Given the description of an element on the screen output the (x, y) to click on. 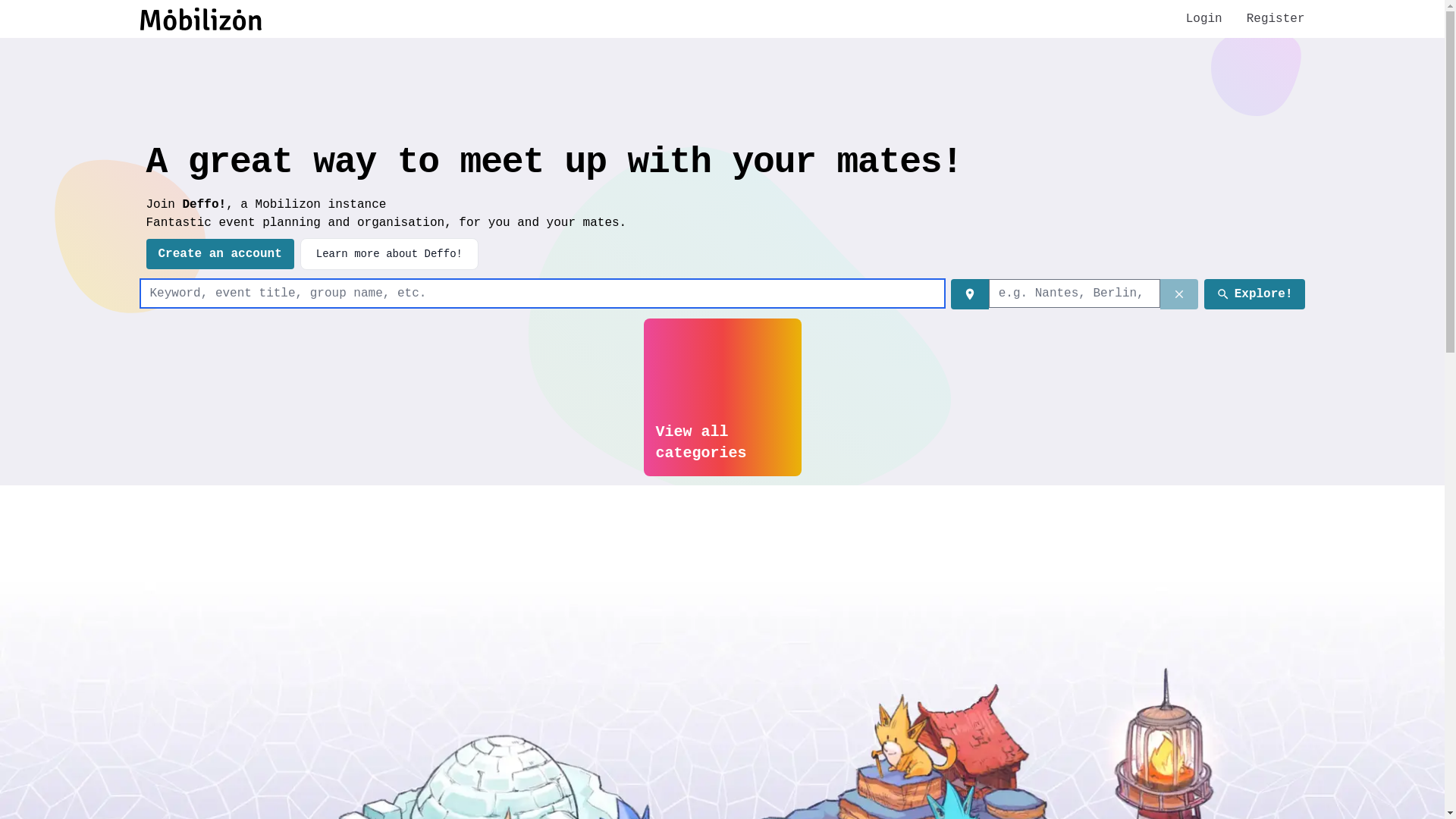
Explore! Element type: text (1254, 294)
Use my location Element type: hover (969, 294)
View all categories Element type: text (721, 397)
Create an account Element type: text (219, 253)
Clear address field Element type: hover (1179, 294)
Login Element type: text (1204, 18)
Register Element type: text (1275, 18)
Learn more about Deffo! Element type: text (389, 253)
